Given the description of an element on the screen output the (x, y) to click on. 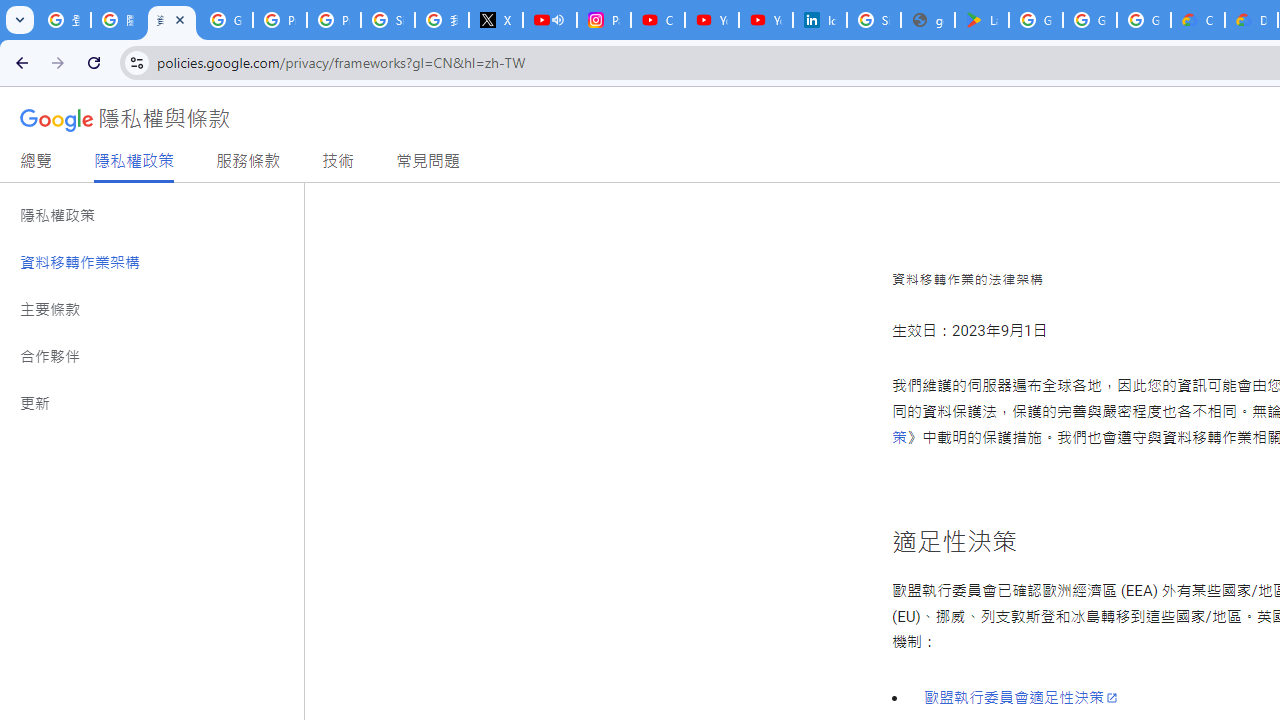
Google Workspace - Specific Terms (1089, 20)
Sign in - Google Accounts (874, 20)
Customer Care | Google Cloud (1197, 20)
Sign in - Google Accounts (387, 20)
Privacy Help Center - Policies Help (280, 20)
